Given the description of an element on the screen output the (x, y) to click on. 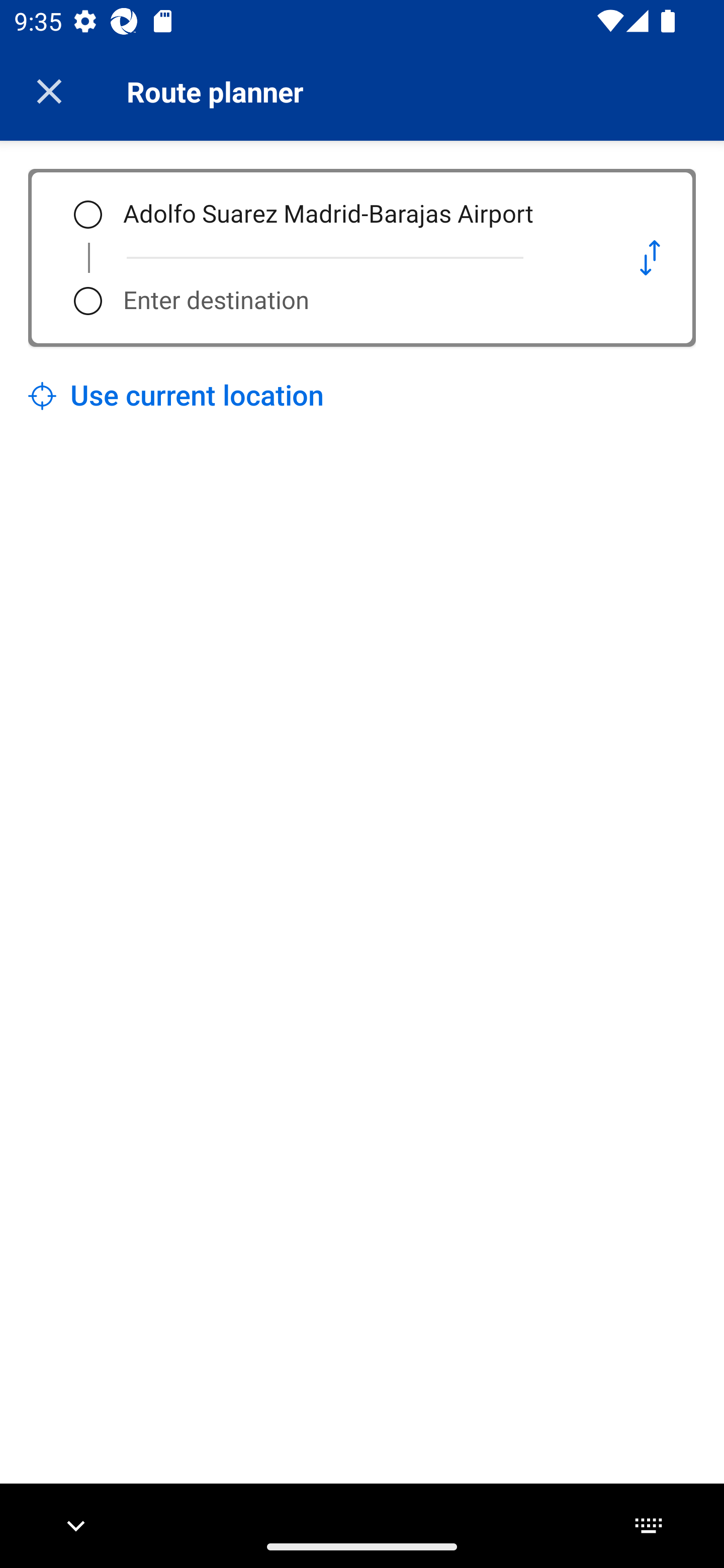
Close (49, 91)
Adolfo Suarez Madrid-Barajas Airport (355, 214)
Swap pick-up location and destination (650, 257)
Enter destination (355, 300)
Use current location (176, 395)
